Given the description of an element on the screen output the (x, y) to click on. 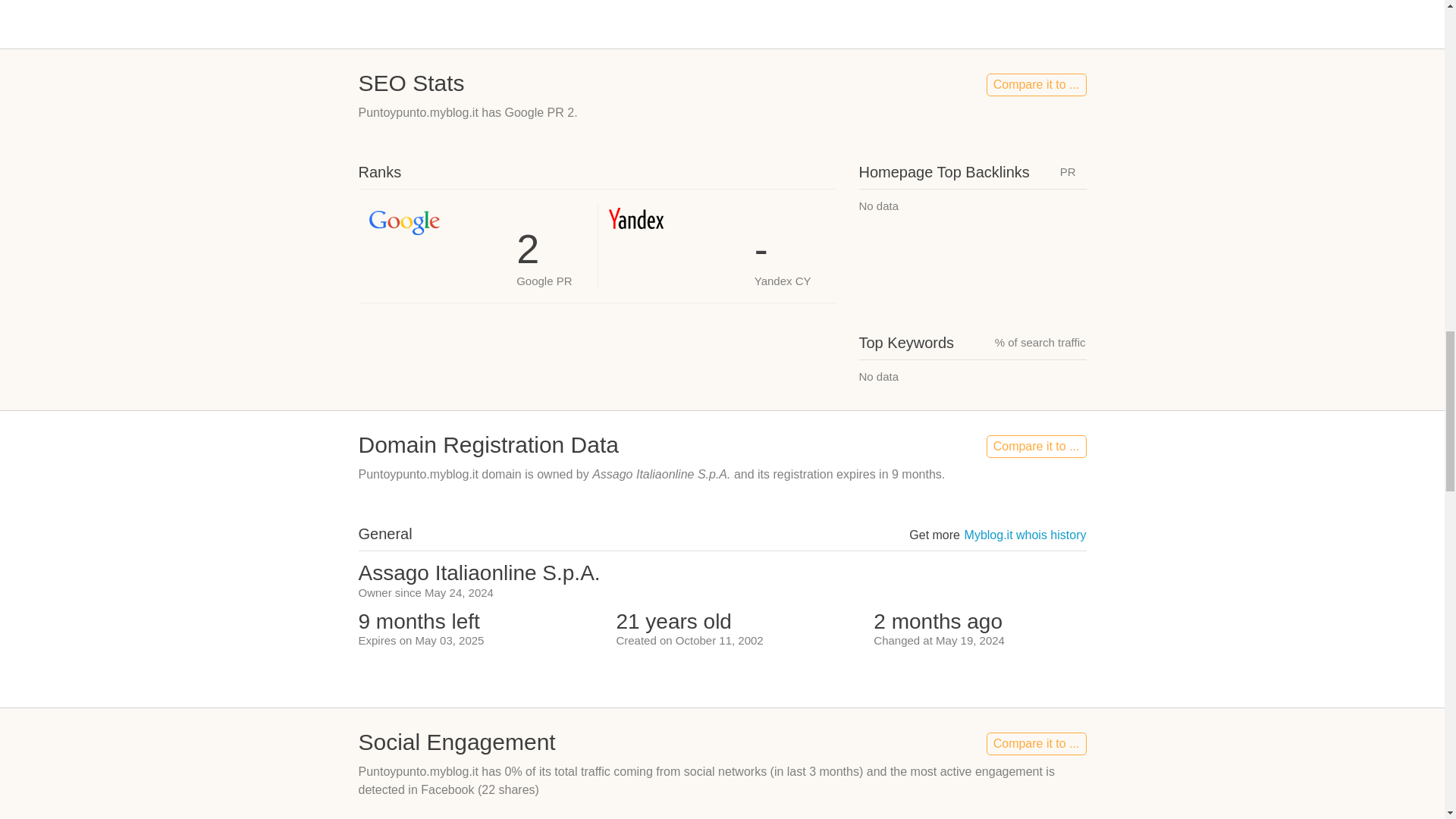
Myblog.it whois history (1024, 534)
Compare it to ... (1036, 84)
Compare it to ... (1036, 743)
Compare it to ... (1036, 445)
